Given the description of an element on the screen output the (x, y) to click on. 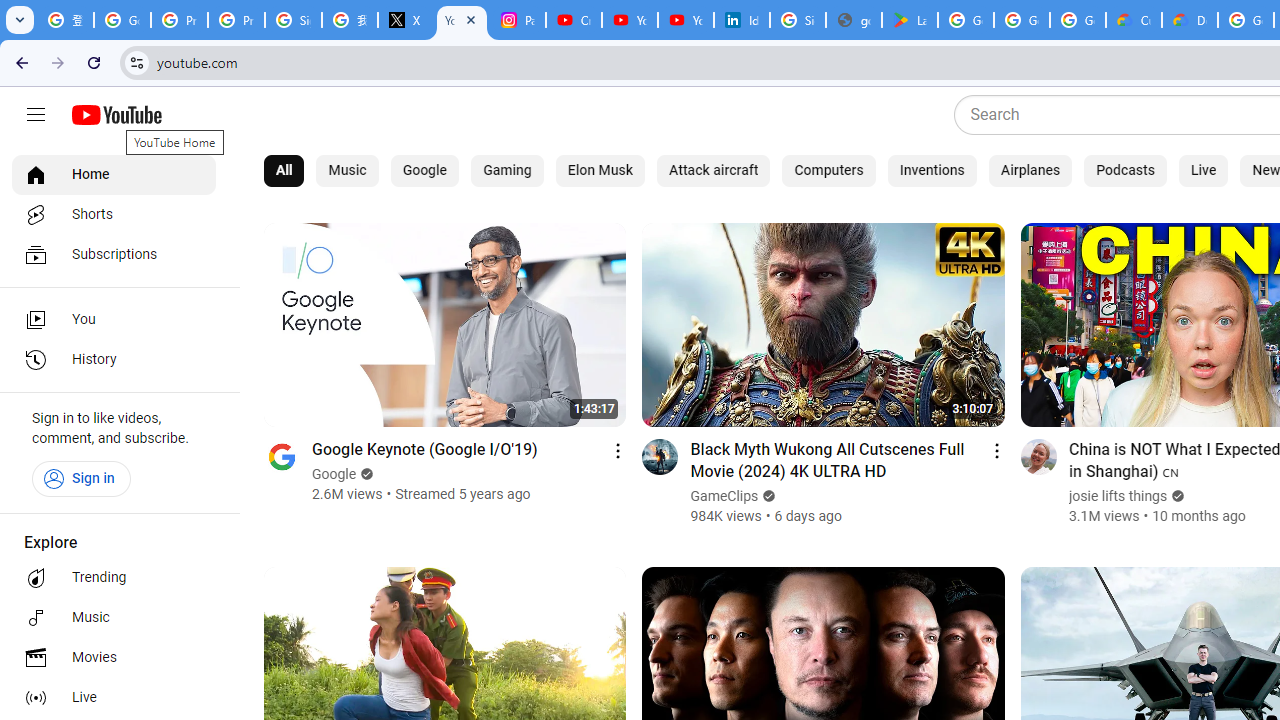
Go to channel (1038, 456)
Gaming (507, 170)
History (113, 359)
Computers (828, 170)
X (405, 20)
Privacy Help Center - Policies Help (235, 20)
Elon Musk (600, 170)
GameClips (724, 496)
Inventions (931, 170)
